Given the description of an element on the screen output the (x, y) to click on. 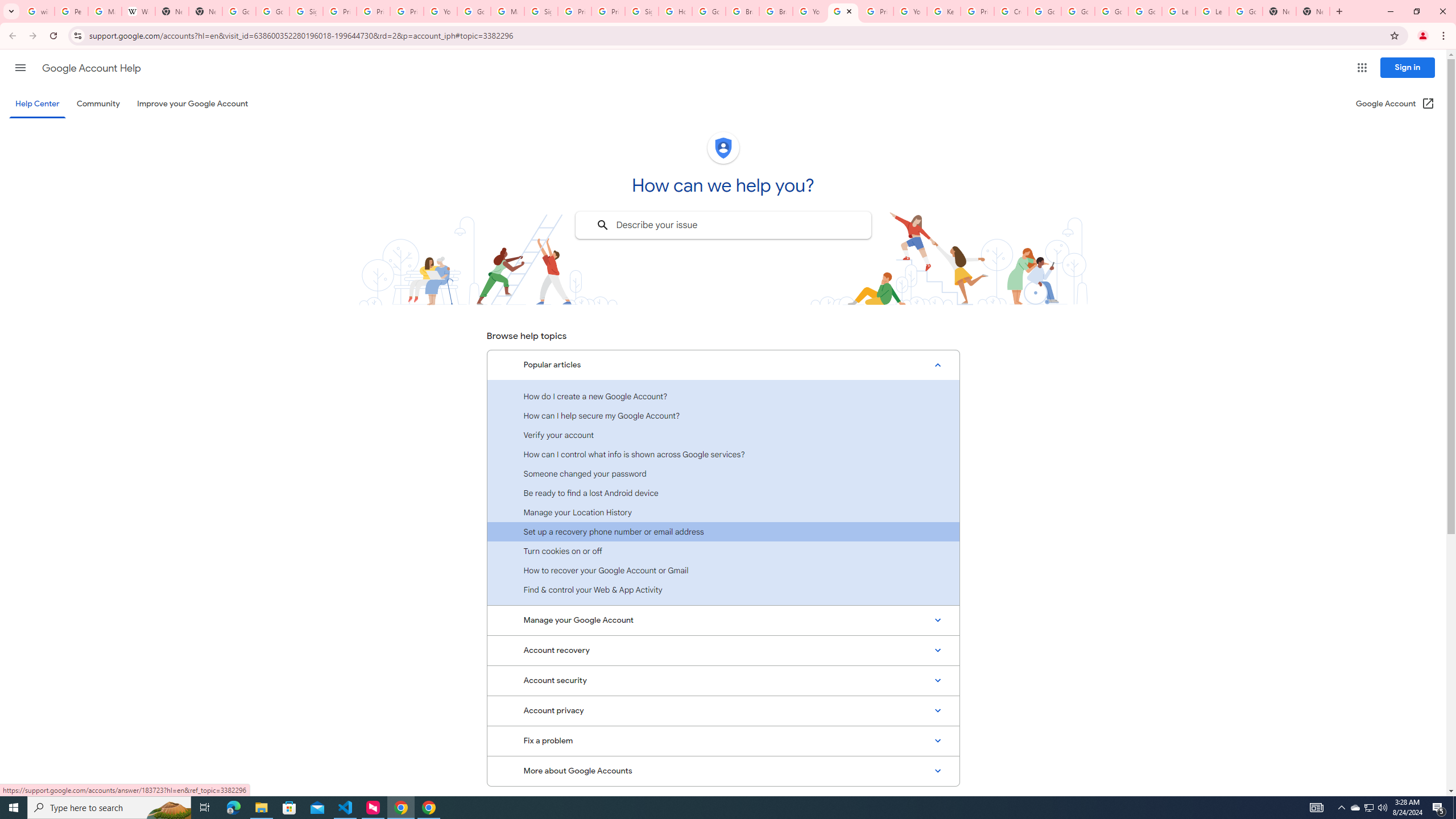
Set up a recovery phone number or email address (722, 531)
Manage your Location History - Google Search Help (104, 11)
Google Account (1246, 11)
Sign in - Google Accounts (641, 11)
Account security (722, 680)
Google Account Help (1043, 11)
New Tab (205, 11)
Search (601, 225)
Personalization & Google Search results - Google Search Help (71, 11)
New Tab (1279, 11)
More about Google Accounts (722, 771)
New Tab (1313, 11)
Improve your Google Account (192, 103)
